Given the description of an element on the screen output the (x, y) to click on. 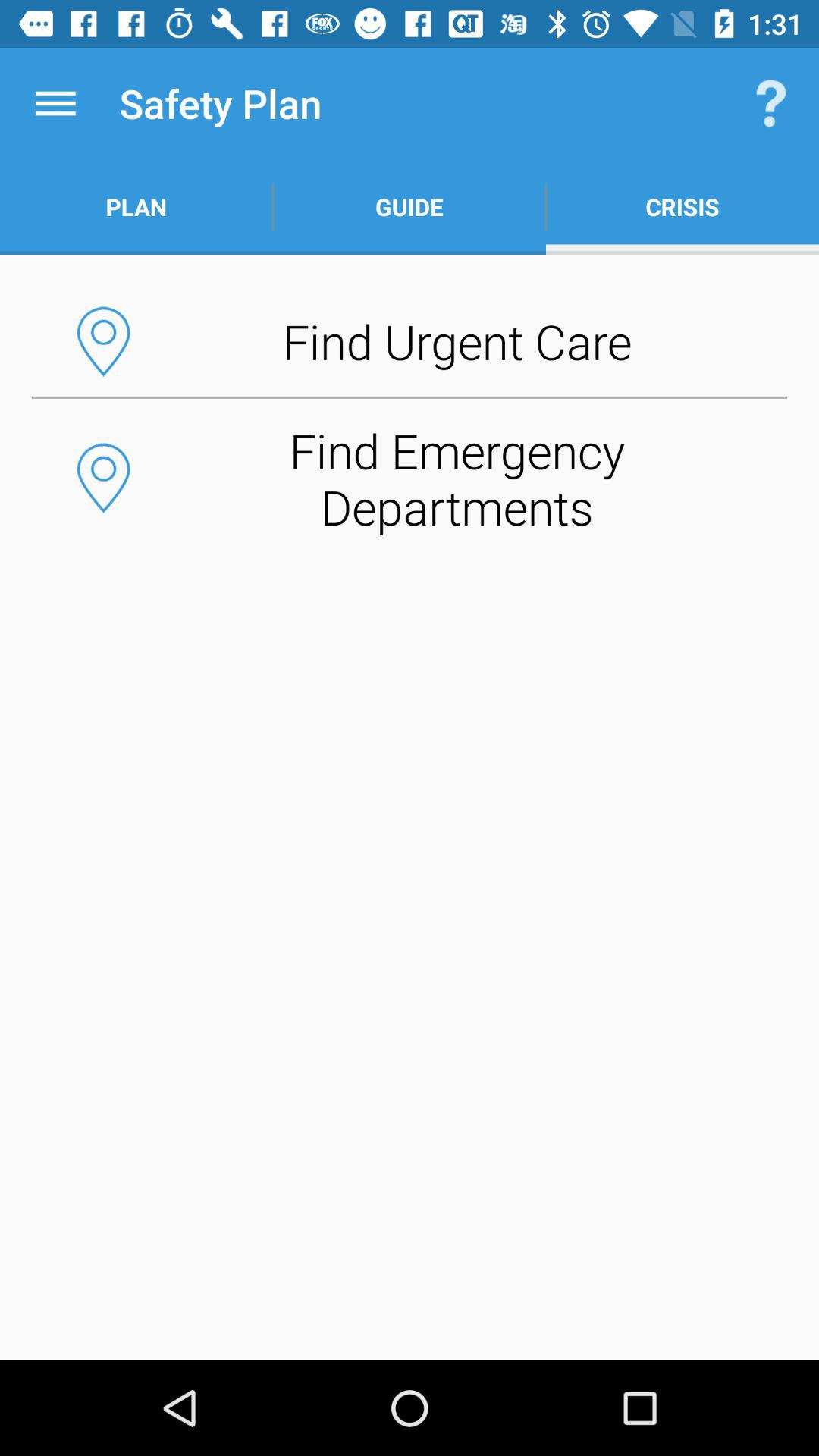
tap the app below the plan (409, 341)
